Given the description of an element on the screen output the (x, y) to click on. 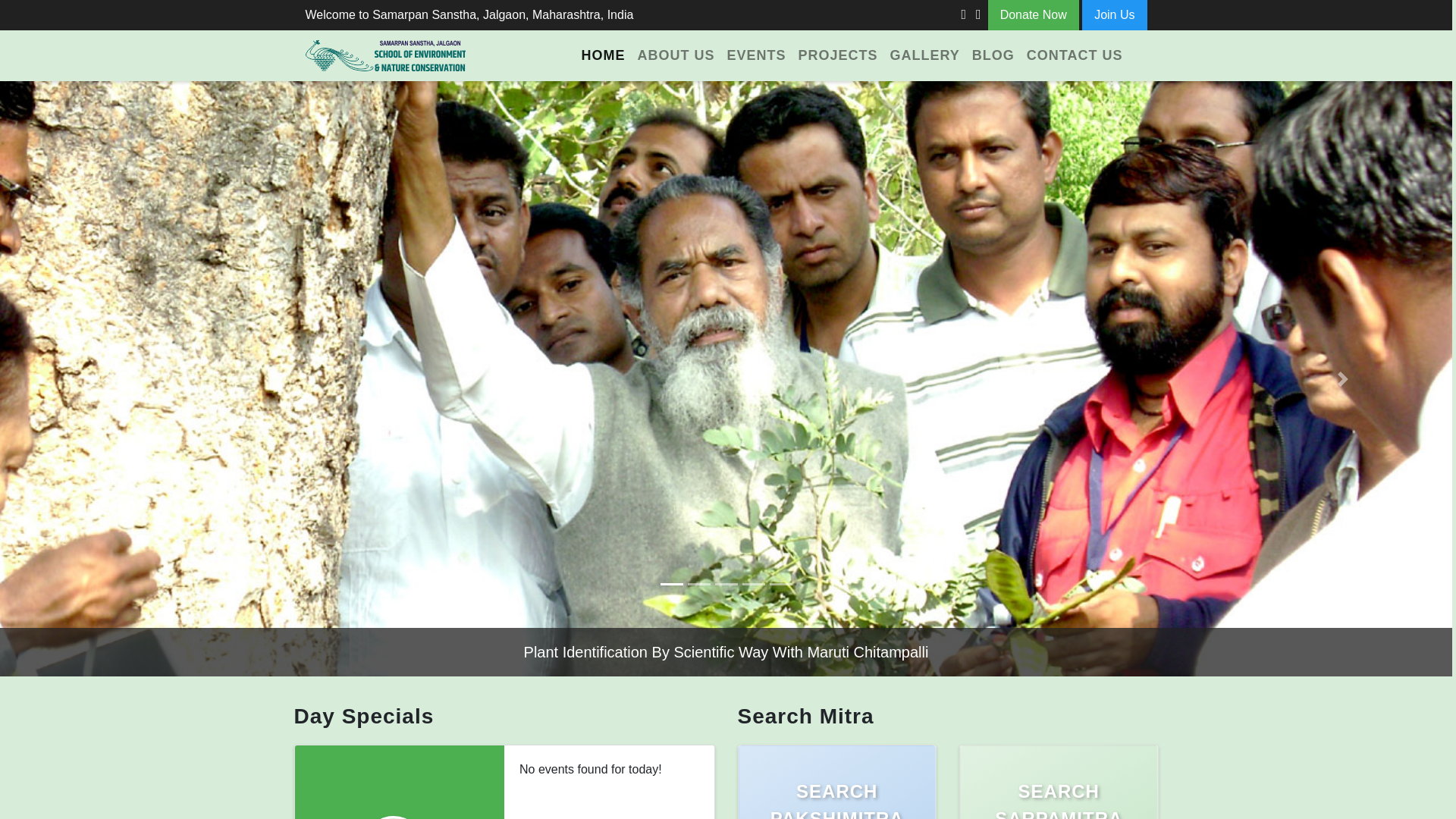
Donate Now (1033, 15)
SEARCH PAKSHIMITRA (837, 782)
BLOG (993, 55)
HOME (602, 55)
PROJECTS (837, 55)
CONTACT US (1074, 55)
Join Us (1114, 15)
GALLERY (924, 55)
EVENTS (756, 55)
SEARCH SARPAMITRA (1058, 782)
ABOUT US (675, 55)
